Given the description of an element on the screen output the (x, y) to click on. 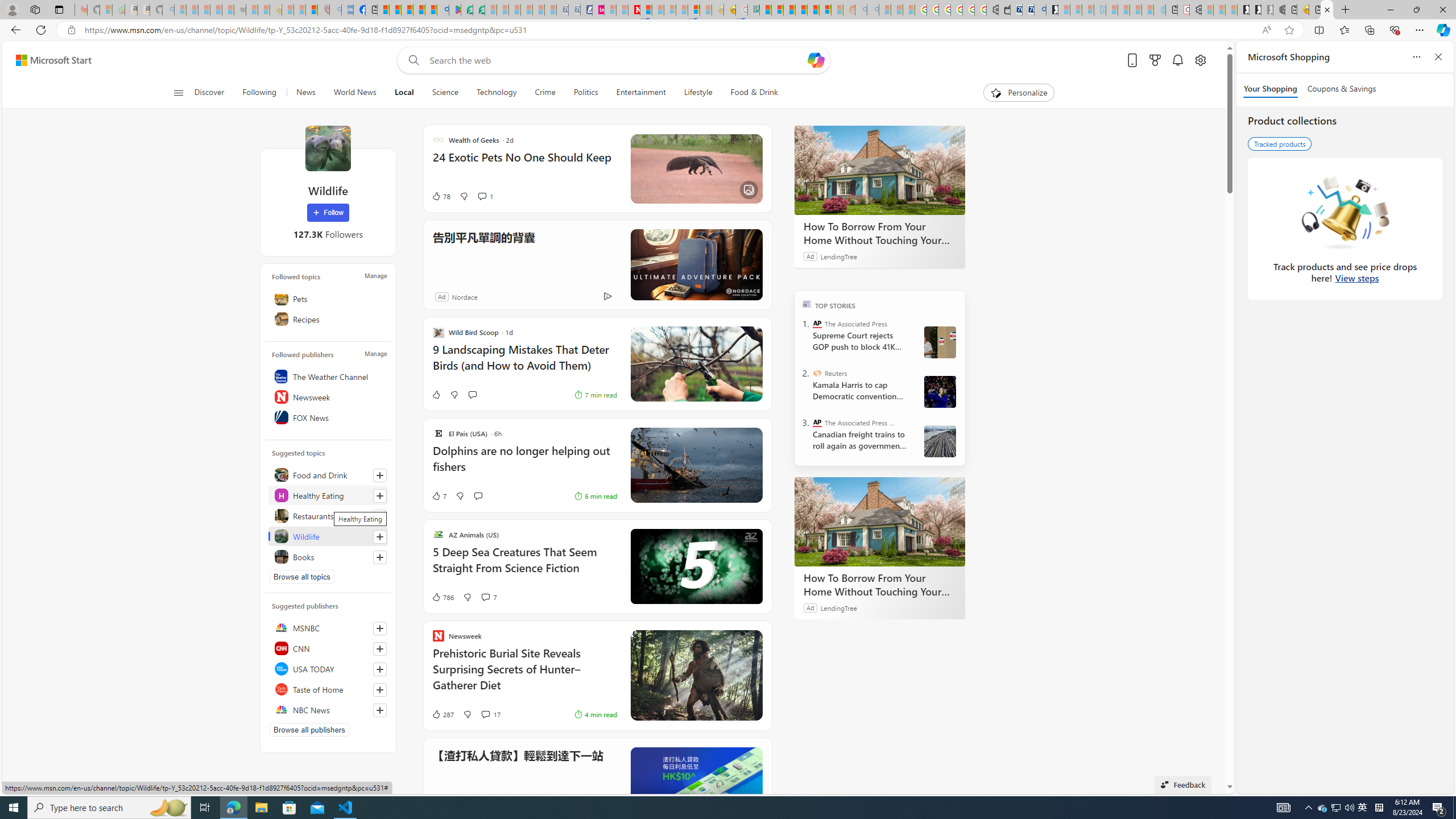
The Weather Channel - MSN - Sleeping (204, 9)
Follow this topic (379, 557)
Food & Drink (748, 92)
USA TODAY (327, 668)
24 Exotic Pets No One Should Keep (524, 163)
NBC News (327, 709)
Expert Portfolios (801, 9)
Food and Drink (327, 474)
